Given the description of an element on the screen output the (x, y) to click on. 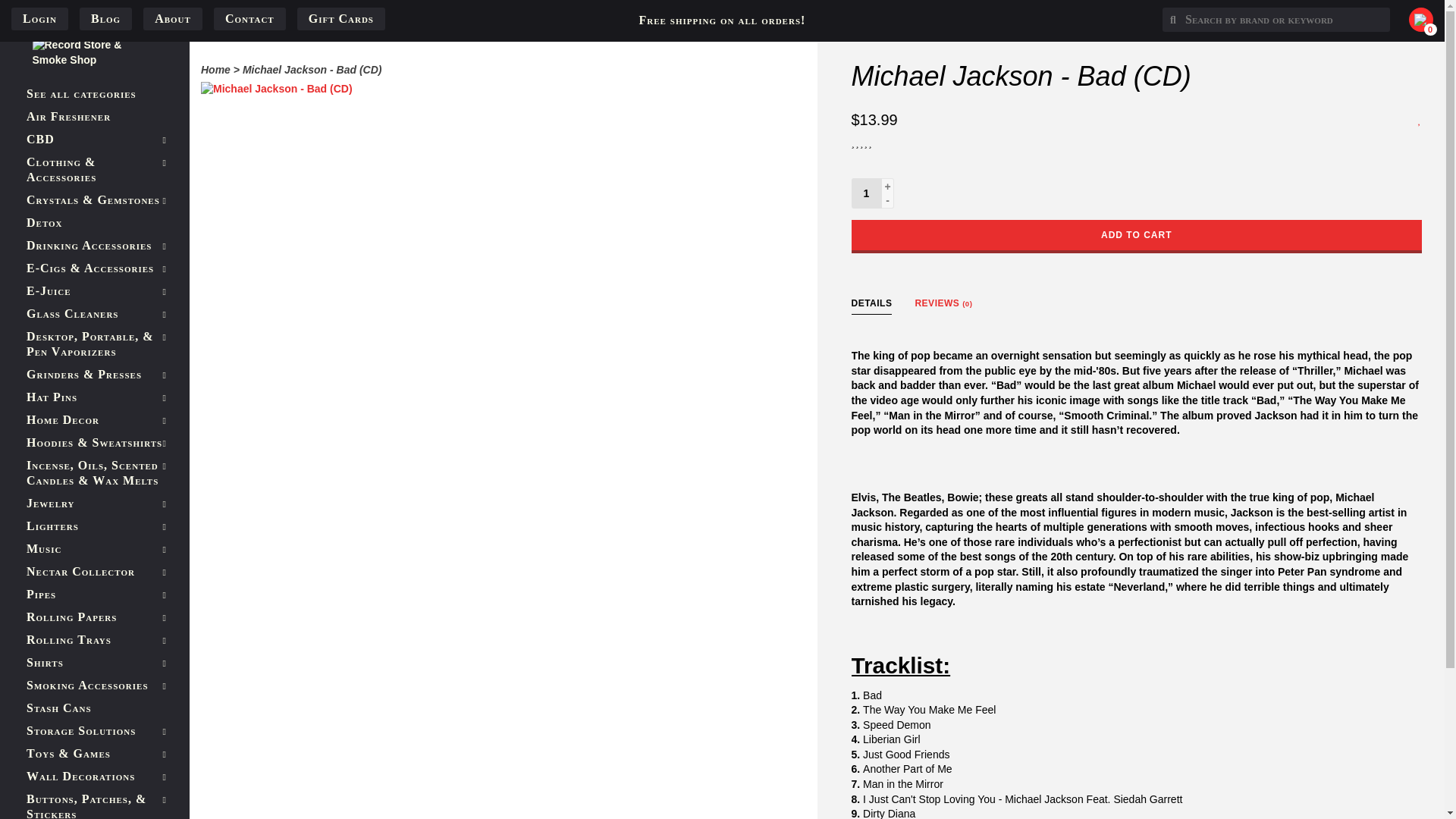
CBD (94, 138)
Gift Cards (341, 18)
About (172, 18)
Free shipping on all orders! (722, 19)
Air Freshener (94, 116)
Blog (105, 18)
Contact (250, 18)
Cart (1427, 18)
About (172, 18)
0 (1427, 18)
My account (39, 19)
Blog (105, 18)
1 (865, 193)
CBD (94, 138)
Gift Cards (341, 18)
